Given the description of an element on the screen output the (x, y) to click on. 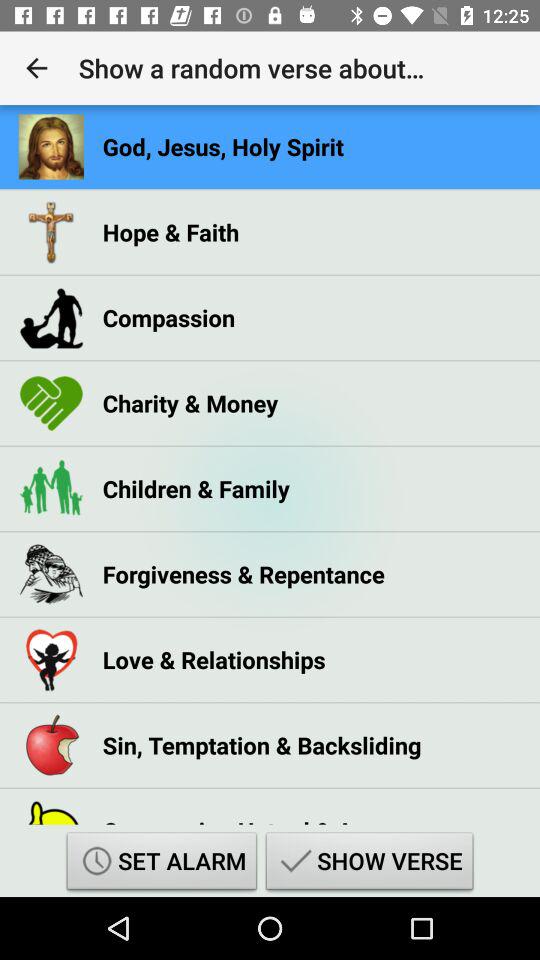
tap god jesus holy icon (223, 146)
